Given the description of an element on the screen output the (x, y) to click on. 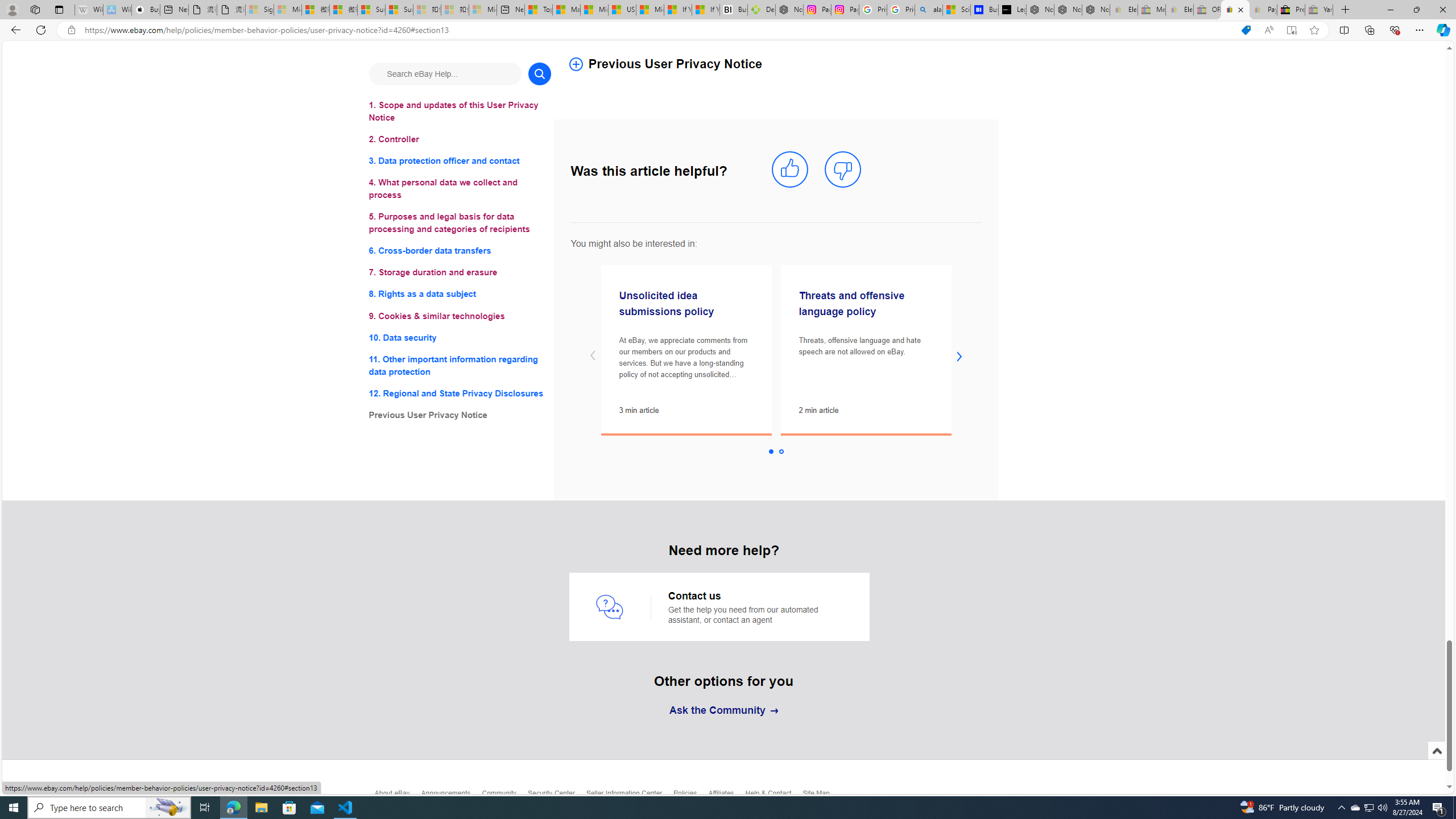
User Privacy Notice | eBay (1235, 9)
Microsoft account | Account Checkup - Sleeping (483, 9)
Buy iPad - Apple (145, 9)
Previous User Privacy Notice (774, 57)
9. Cookies & similar technologies (459, 315)
Previous User Privacy Notice (459, 414)
12. Regional and State Privacy Disclosures (459, 392)
Affiliates (726, 796)
9. Cookies & similar technologies (459, 315)
Marine life - MSN (566, 9)
Help & Contact (774, 796)
